Given the description of an element on the screen output the (x, y) to click on. 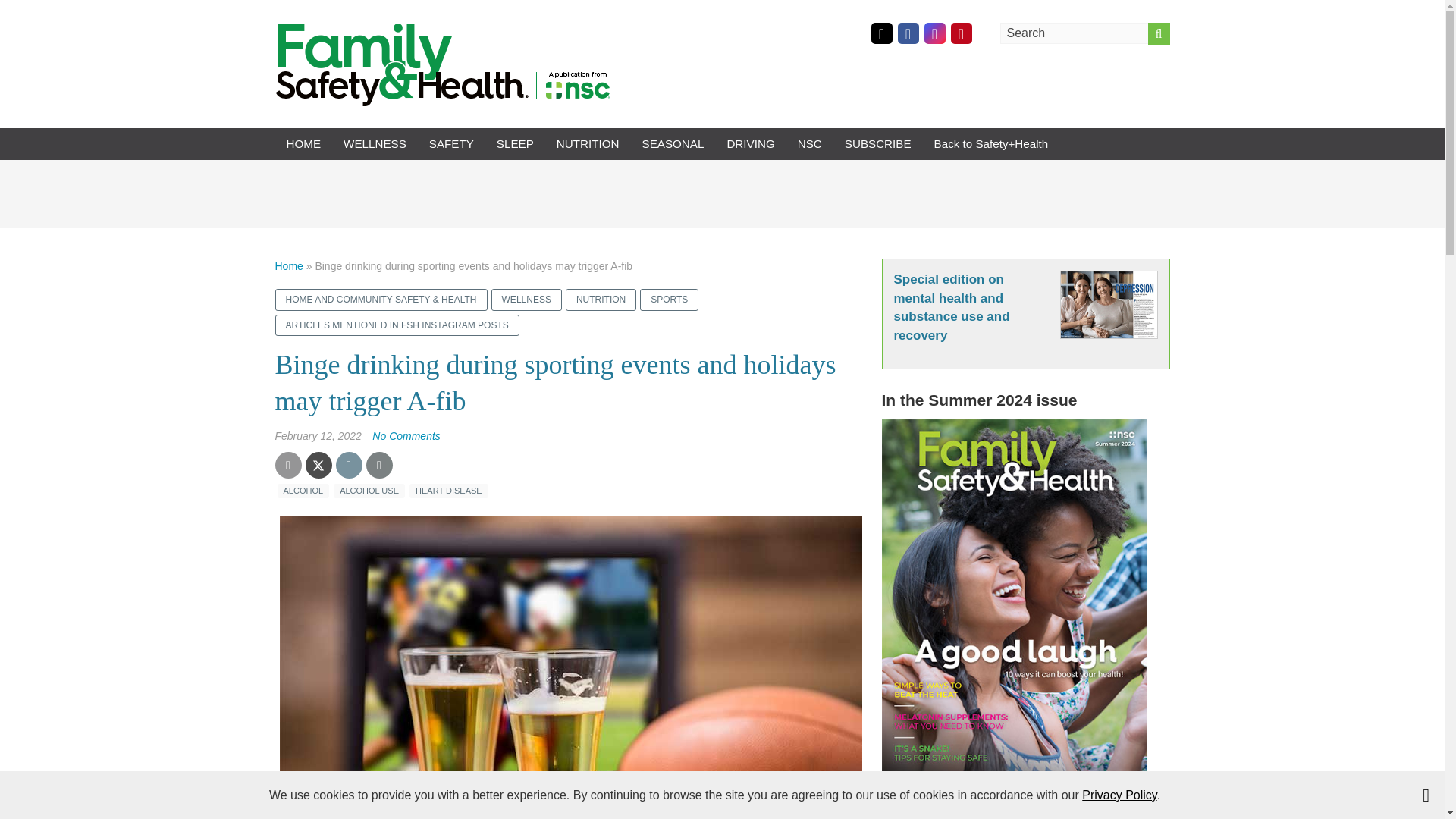
Privacy Policy (1118, 794)
